Given the description of an element on the screen output the (x, y) to click on. 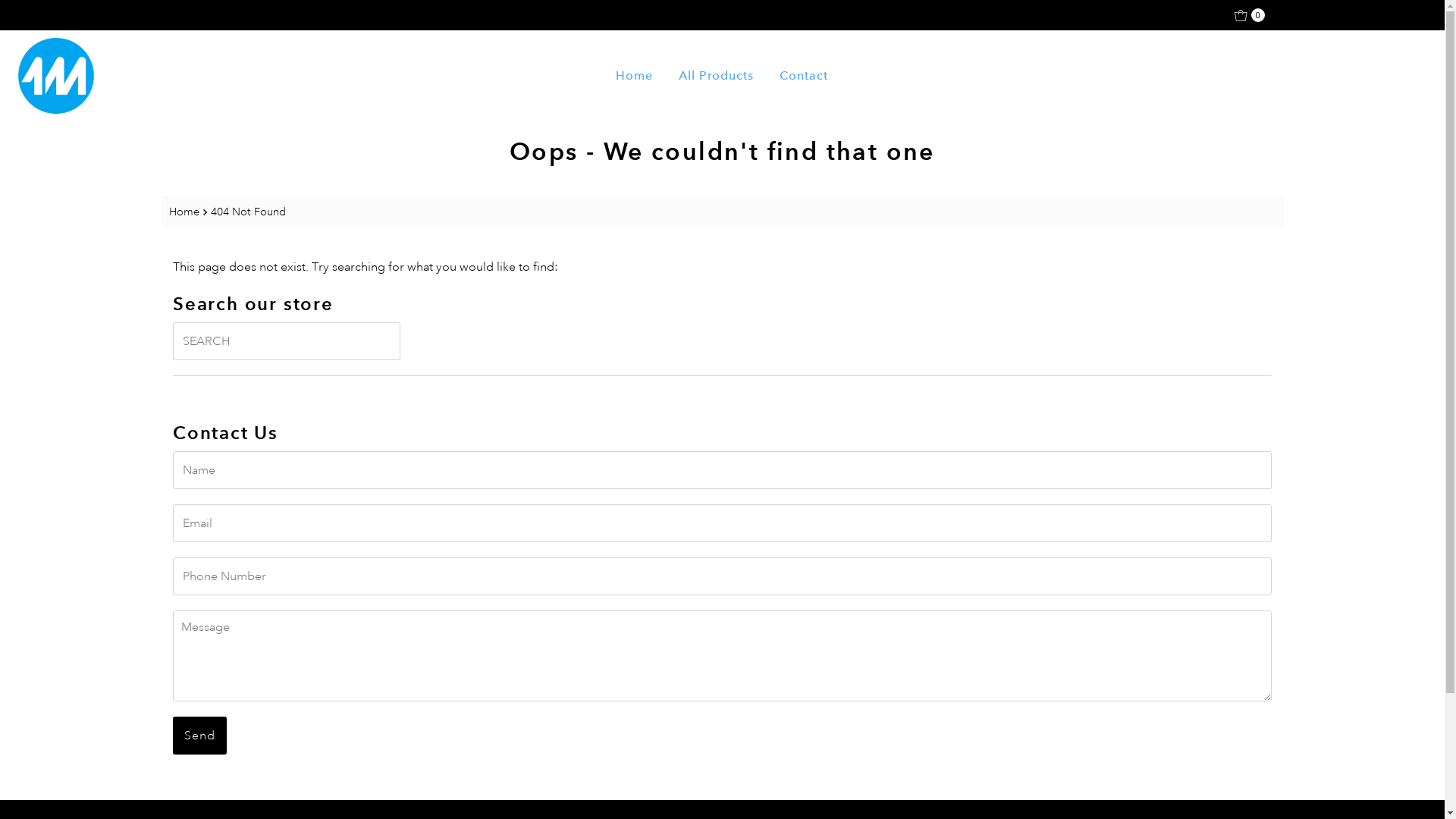
0 Element type: text (1249, 14)
Contact Element type: text (803, 75)
Send Element type: text (199, 735)
Home Element type: text (185, 212)
Search our store Element type: hover (286, 341)
Home Element type: text (634, 75)
All Products Element type: text (716, 75)
